Given the description of an element on the screen output the (x, y) to click on. 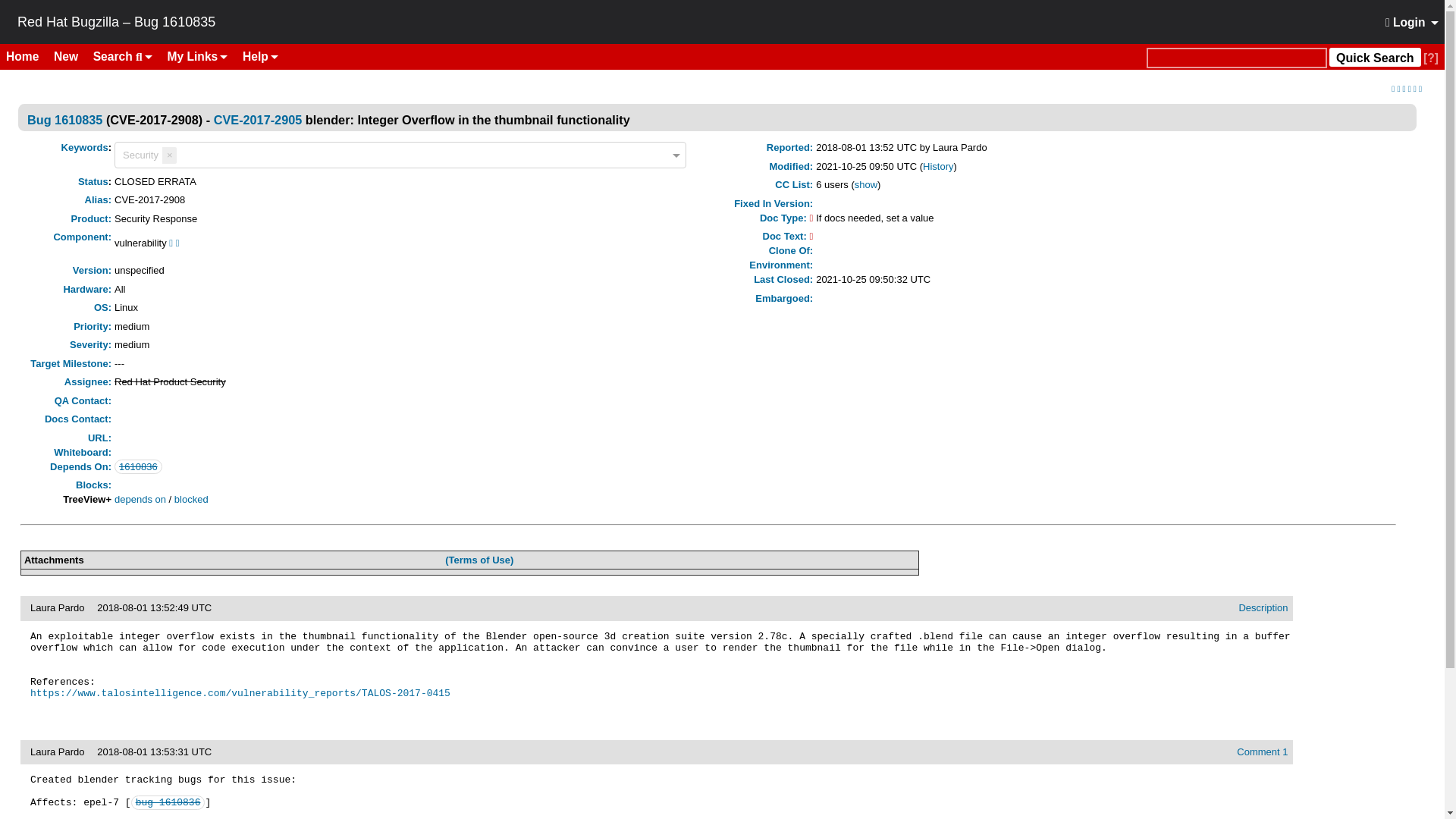
Home (28, 56)
Quick Search (1236, 57)
Quick Search (1375, 56)
Search (122, 56)
Help (259, 56)
New (72, 56)
My Links (197, 56)
